Given the description of an element on the screen output the (x, y) to click on. 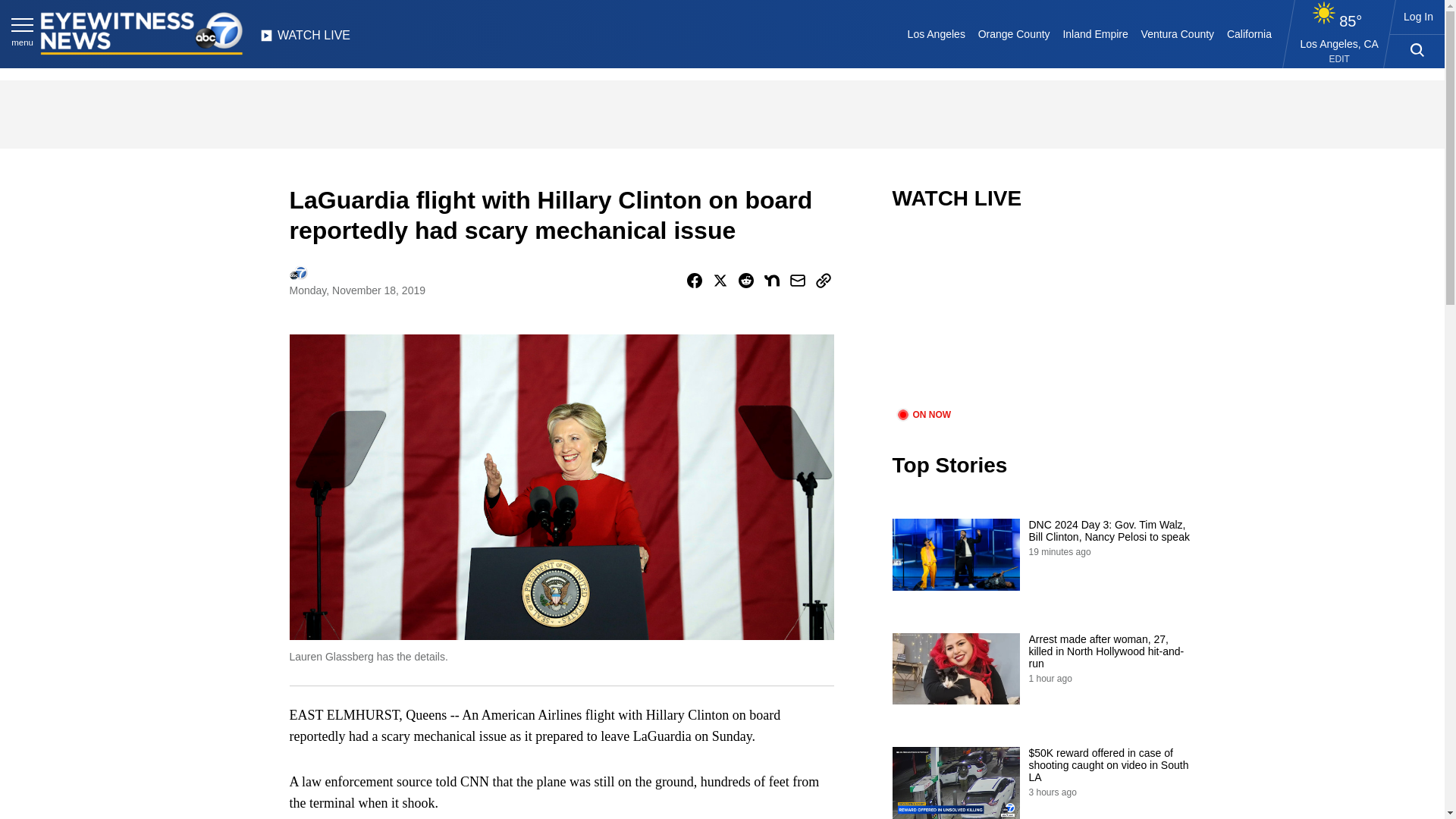
Los Angeles, CA (1339, 43)
California (1249, 33)
Orange County (1014, 33)
EDIT (1339, 59)
video.title (1043, 318)
Los Angeles (936, 33)
Ventura County (1177, 33)
WATCH LIVE (305, 39)
Inland Empire (1095, 33)
